Given the description of an element on the screen output the (x, y) to click on. 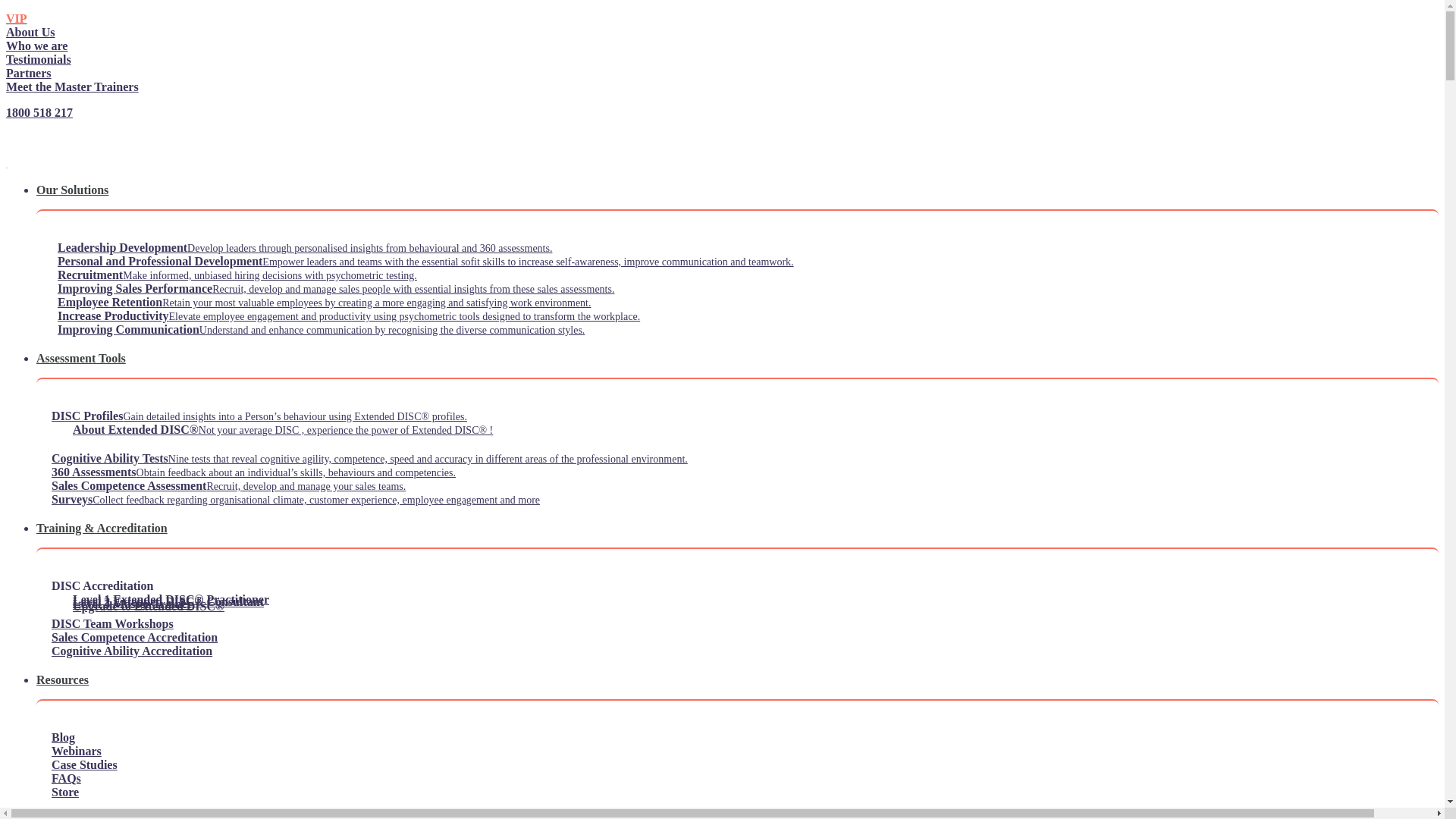
Meet the Master Trainers (78, 86)
Who we are (42, 45)
About Us (35, 31)
Testimonials (43, 59)
Partners (34, 72)
1800 518 217 (721, 125)
